Given the description of an element on the screen output the (x, y) to click on. 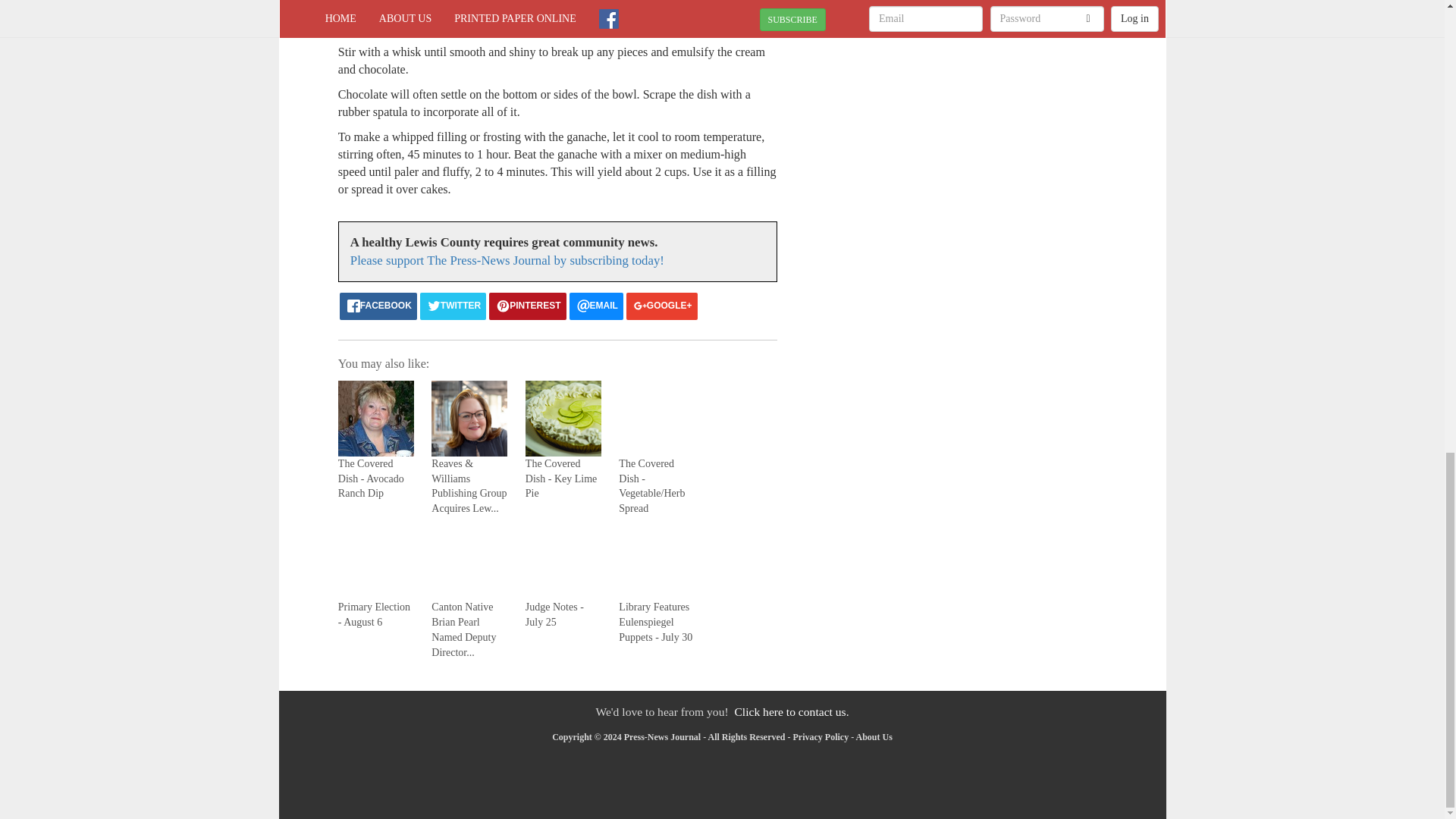
Twitter (453, 306)
Email (596, 306)
Facebook (377, 306)
Pinterest (527, 306)
